Given the description of an element on the screen output the (x, y) to click on. 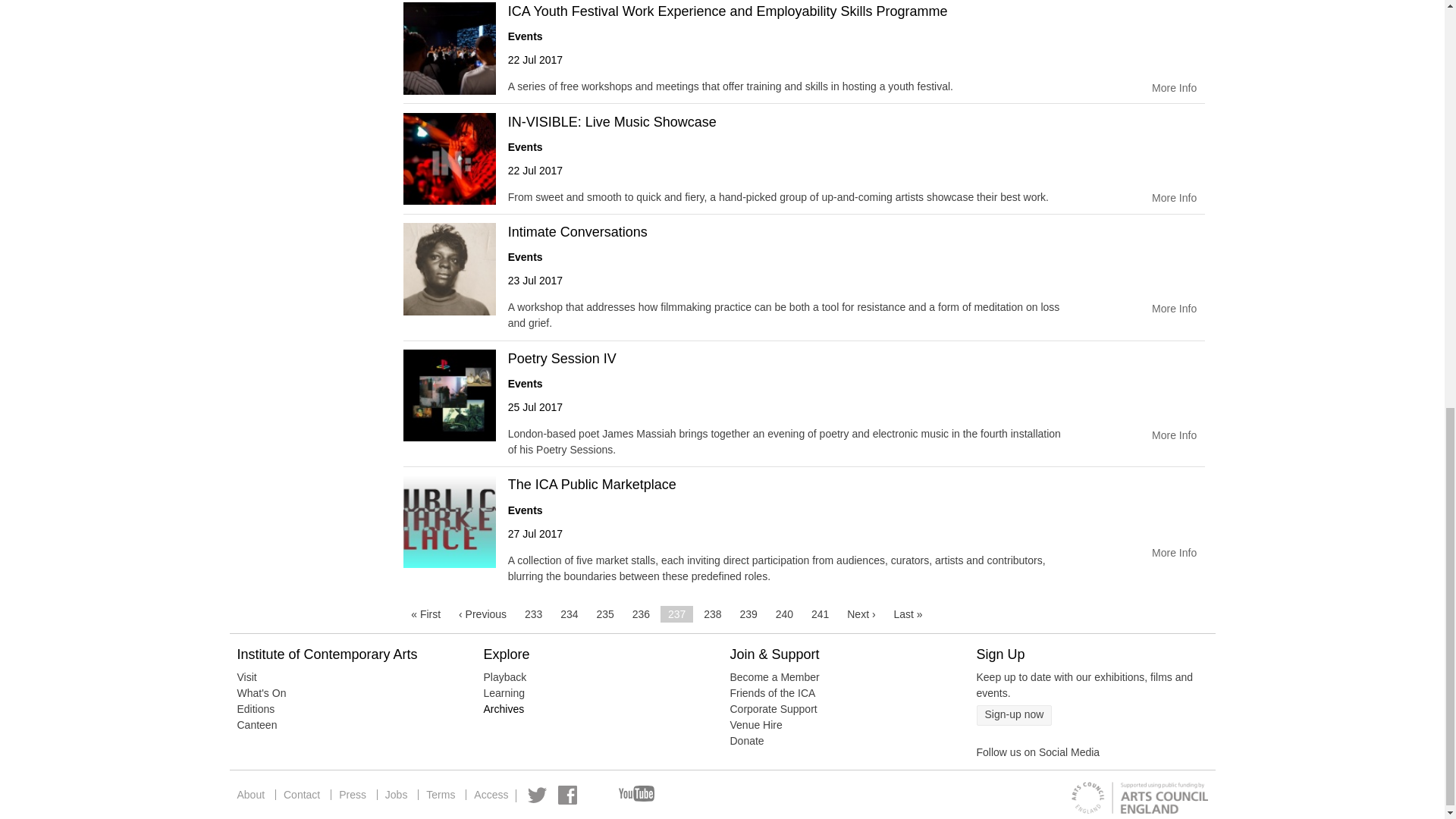
More Info (1173, 435)
More Info (1173, 198)
More Info (1173, 88)
Image courtesy James Massiah (449, 395)
Intimate Conversations (784, 231)
Poetry Session IV (784, 358)
Go to page 236 (641, 614)
Go to previous page (482, 614)
Go to page 233 (533, 614)
Go to first page (425, 614)
